Given the description of an element on the screen output the (x, y) to click on. 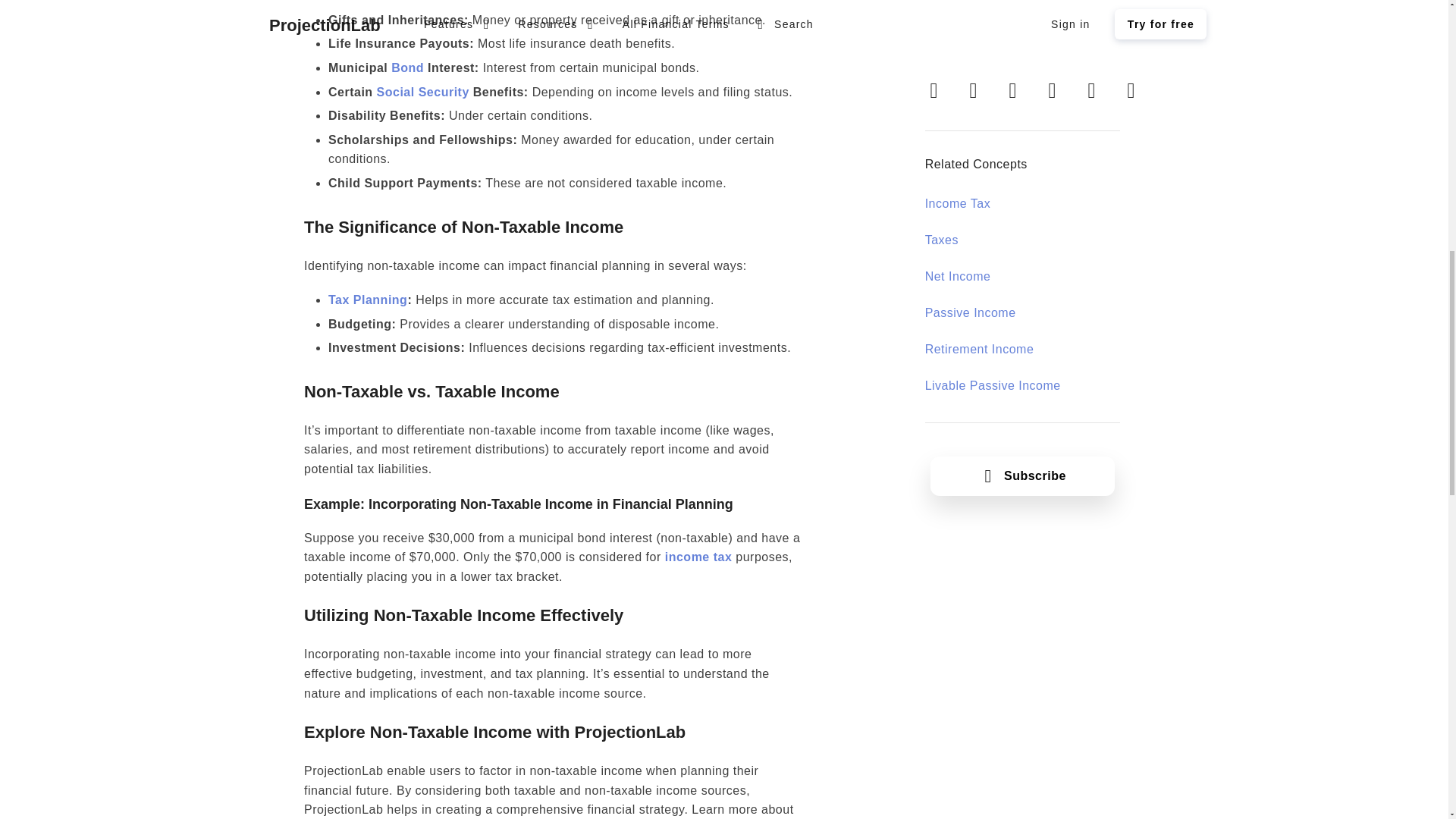
income tax (698, 556)
Bond (407, 67)
Social Security (422, 91)
Tax Planning (368, 299)
